Given the description of an element on the screen output the (x, y) to click on. 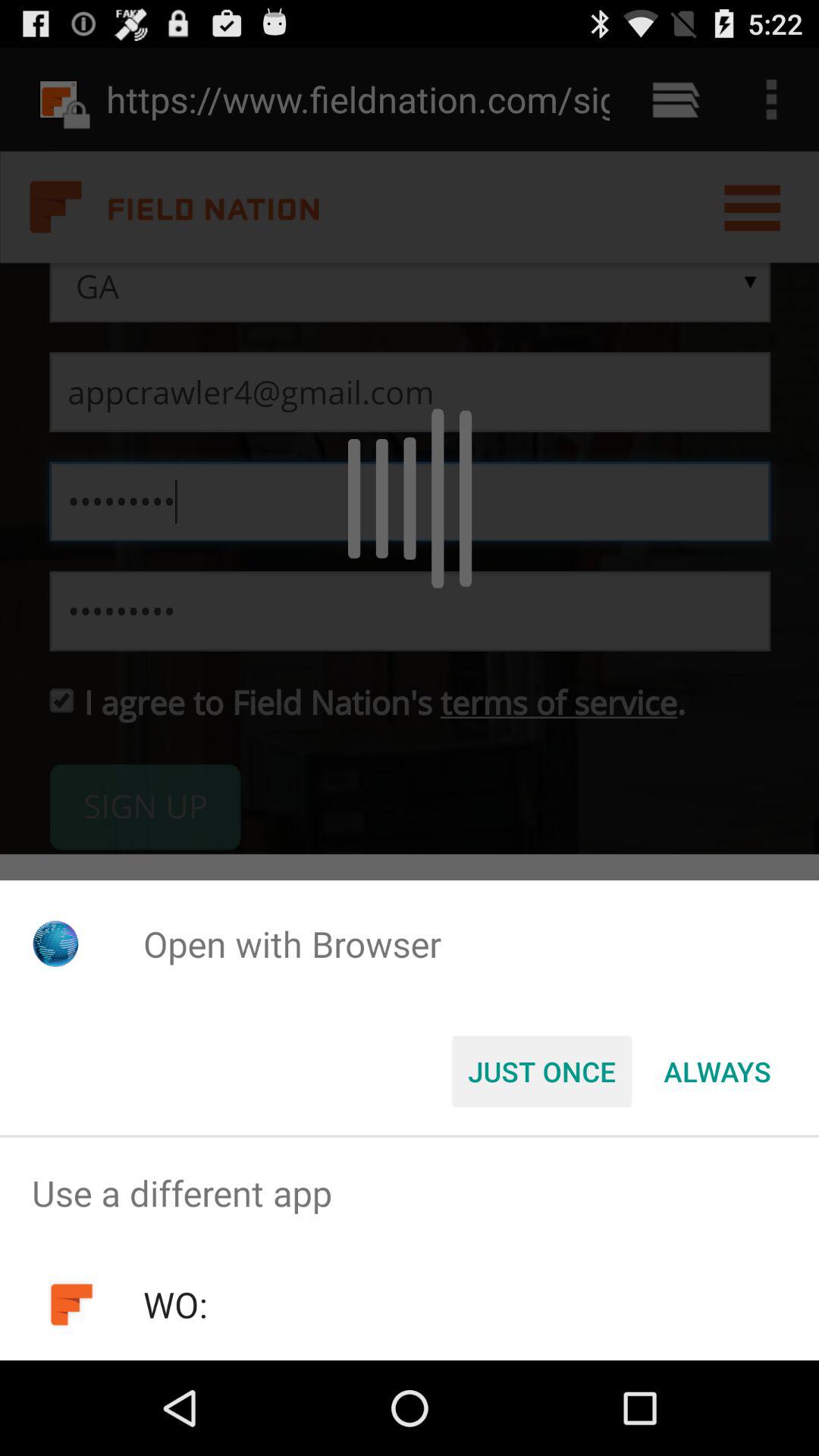
select item at the bottom right corner (717, 1071)
